Given the description of an element on the screen output the (x, y) to click on. 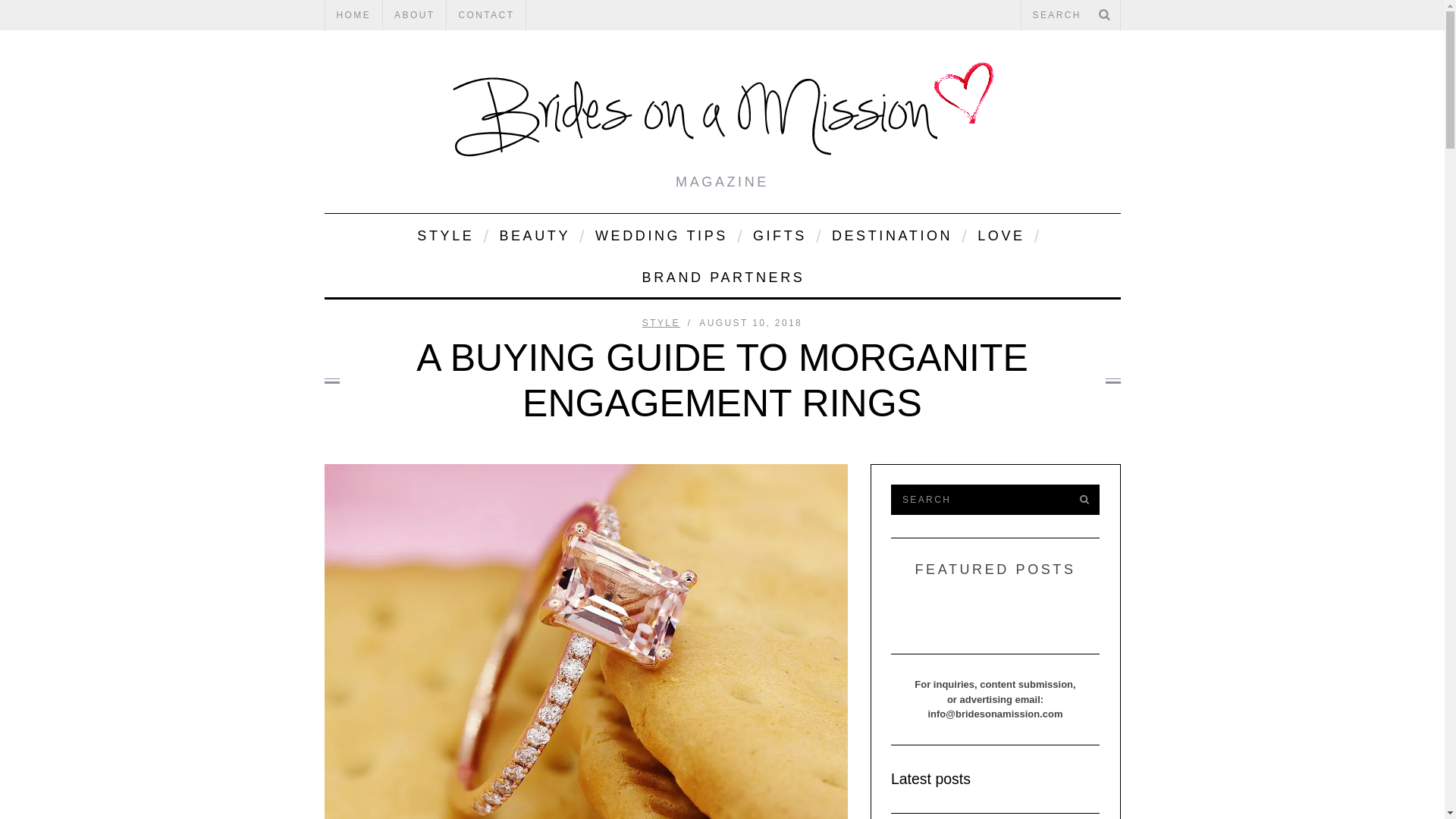
DESTINATION (890, 234)
CONTACT (485, 14)
Search (1070, 15)
Search (976, 499)
HOME (352, 14)
Brides on a Mission - Magazine (721, 113)
GIFTS (778, 234)
ABOUT (413, 14)
BEAUTY (533, 234)
WEDDING TIPS (659, 234)
